Given the description of an element on the screen output the (x, y) to click on. 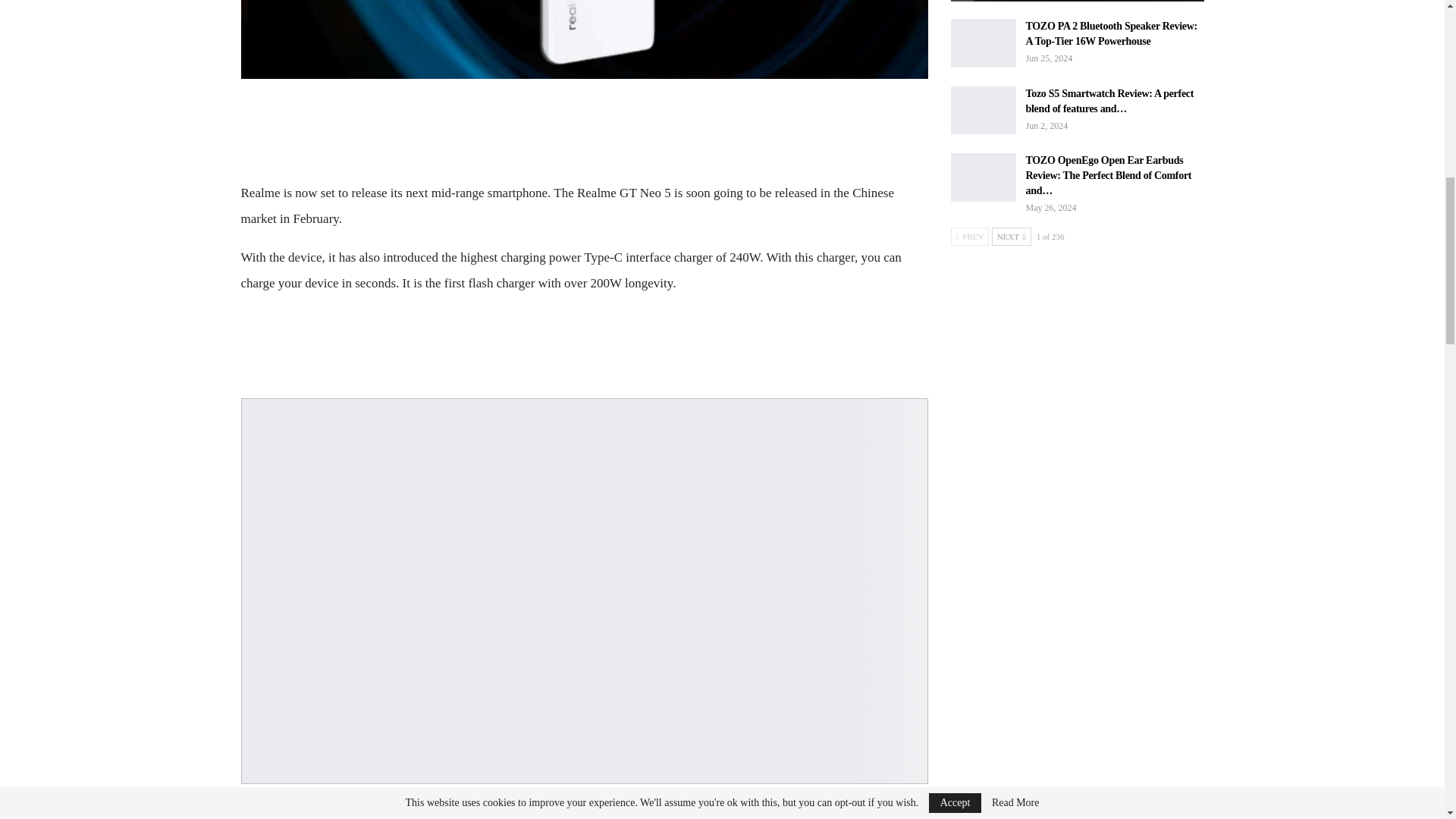
Advertisement (583, 343)
Advertisement (583, 128)
